Given the description of an element on the screen output the (x, y) to click on. 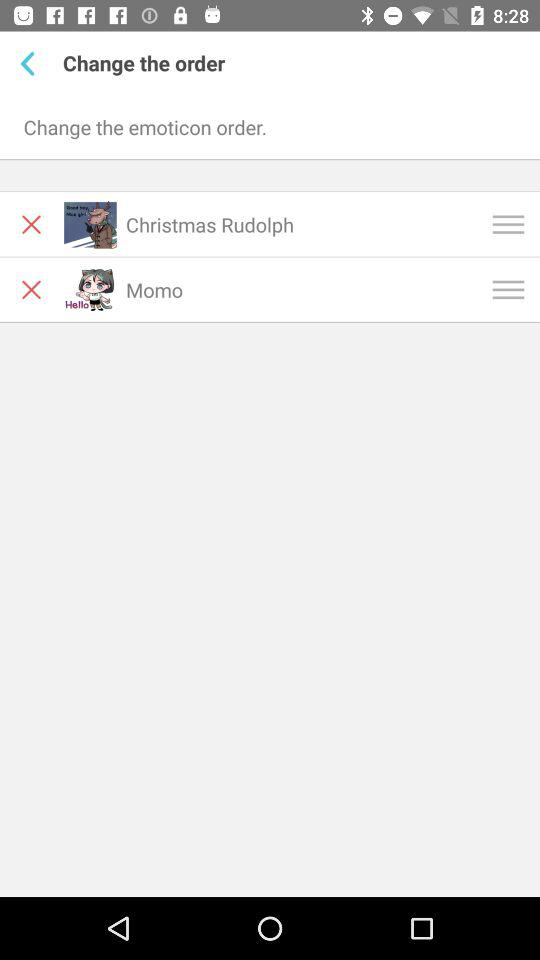
remove emoticon (31, 224)
